Given the description of an element on the screen output the (x, y) to click on. 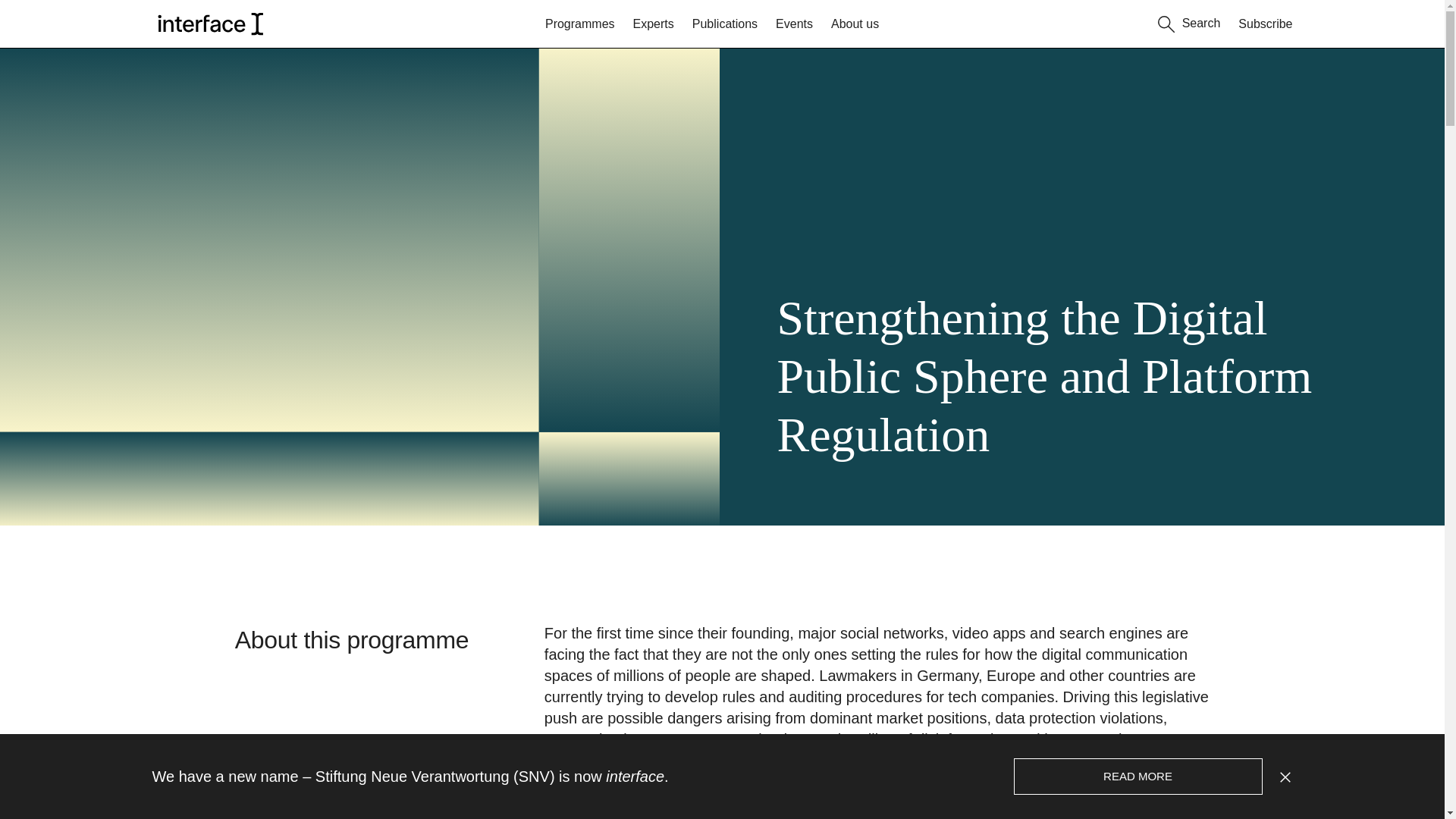
Subscribe (1265, 24)
Experts (653, 24)
Publications (725, 24)
Events (794, 24)
Programmes (579, 24)
About us (855, 24)
Search (1189, 21)
